Given the description of an element on the screen output the (x, y) to click on. 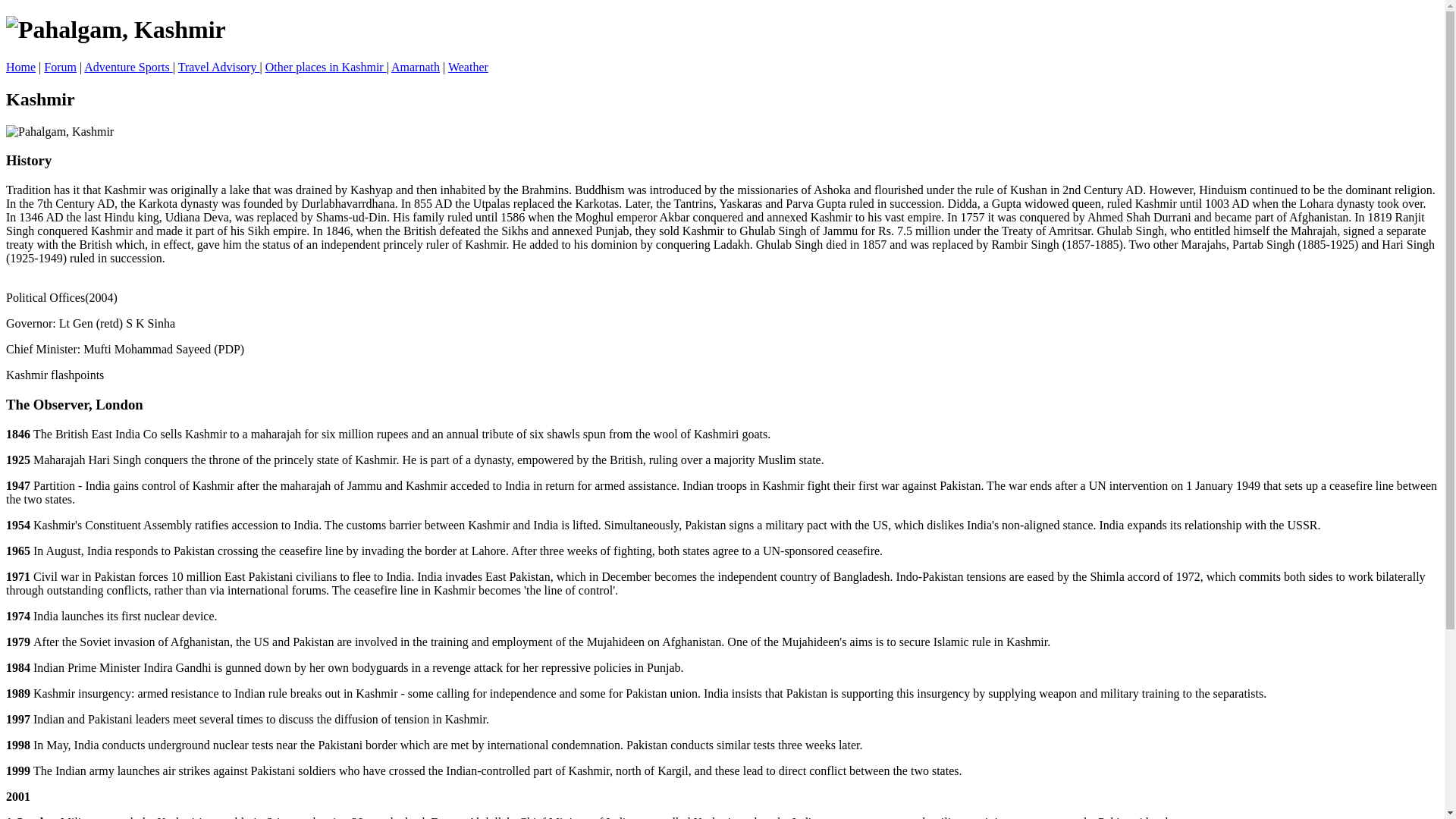
Forum (60, 66)
Amarnath (415, 66)
Home (19, 66)
Adventure Sports (127, 66)
Travel Advisory (218, 66)
Other places in Kashmir (325, 66)
Weather (467, 66)
